Given the description of an element on the screen output the (x, y) to click on. 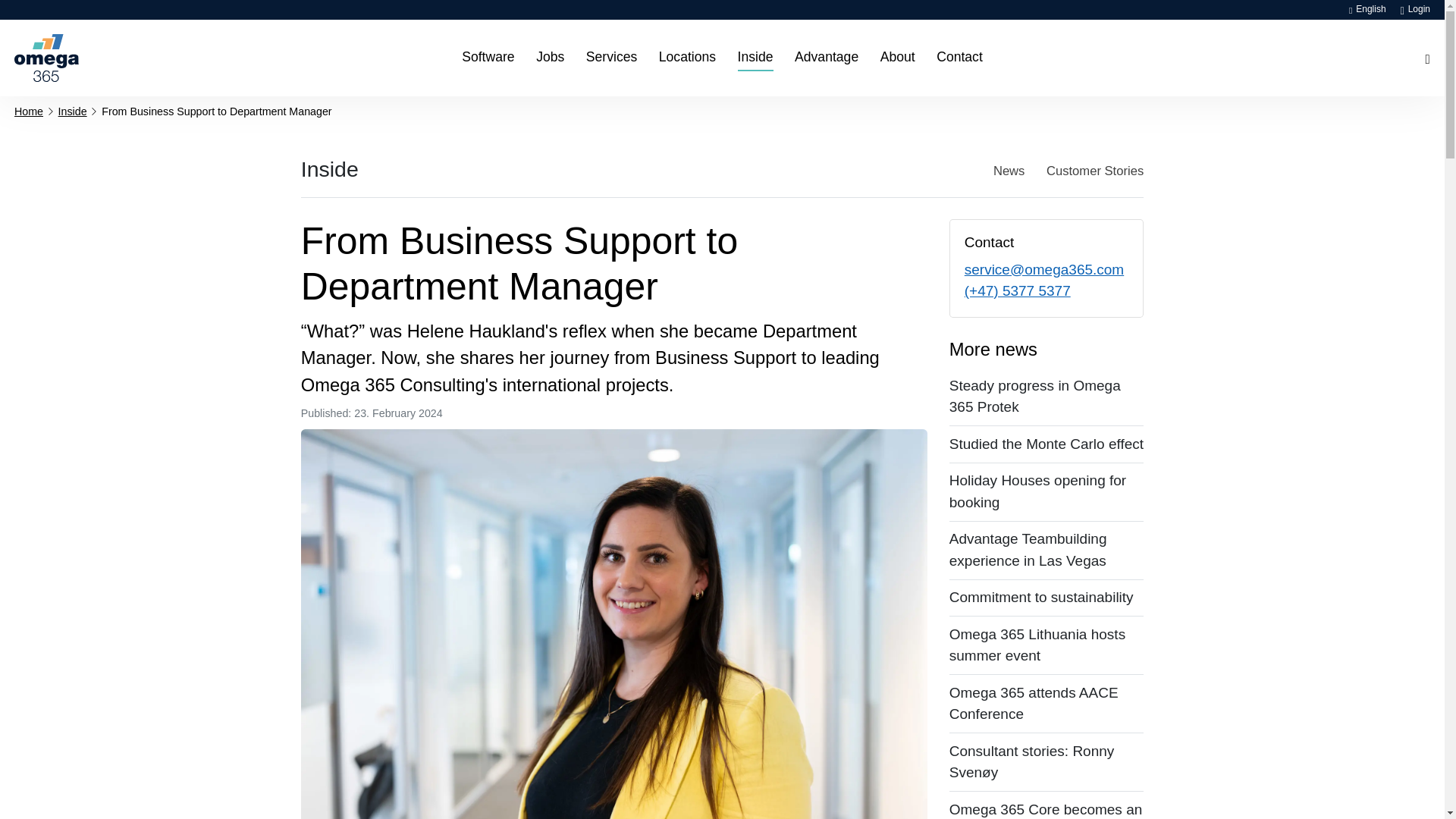
Services (611, 58)
Inside (329, 168)
Software (487, 58)
Studied the Monte Carlo effect (1046, 443)
Contact (959, 58)
Advantage Teambuilding experience in Las Vegas (1046, 550)
Jobs (549, 58)
Inside (72, 111)
Locations (687, 58)
English (1367, 9)
